Given the description of an element on the screen output the (x, y) to click on. 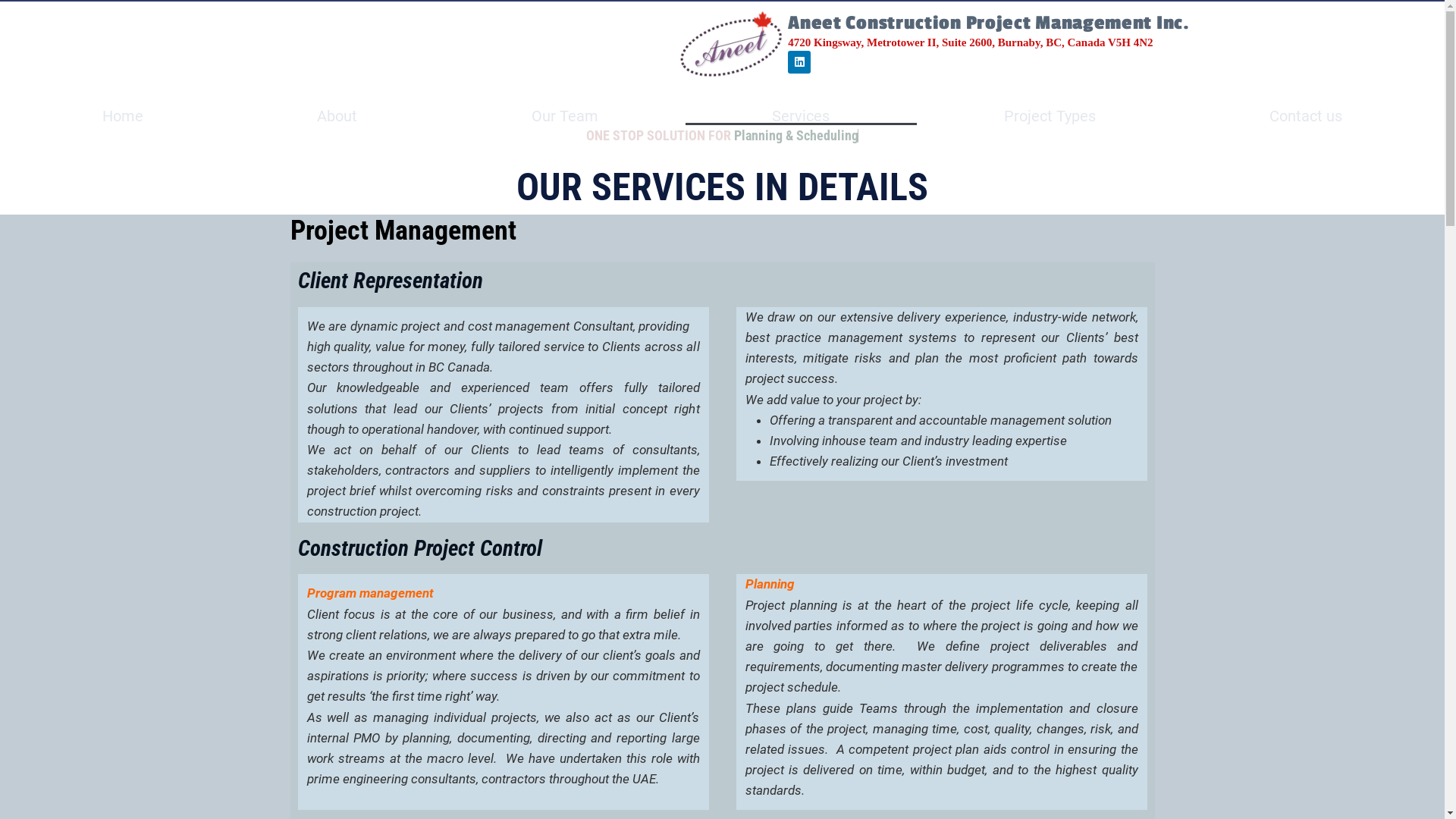
Project Types Element type: text (1049, 115)
About Element type: text (337, 115)
Contact us Element type: text (1306, 115)
AneetCN Logo Element type: hover (731, 43)
Our Team Element type: text (564, 115)
Home Element type: text (122, 115)
Aneet Construction Project Management Inc. Element type: text (988, 22)
Services Element type: text (801, 115)
